Given the description of an element on the screen output the (x, y) to click on. 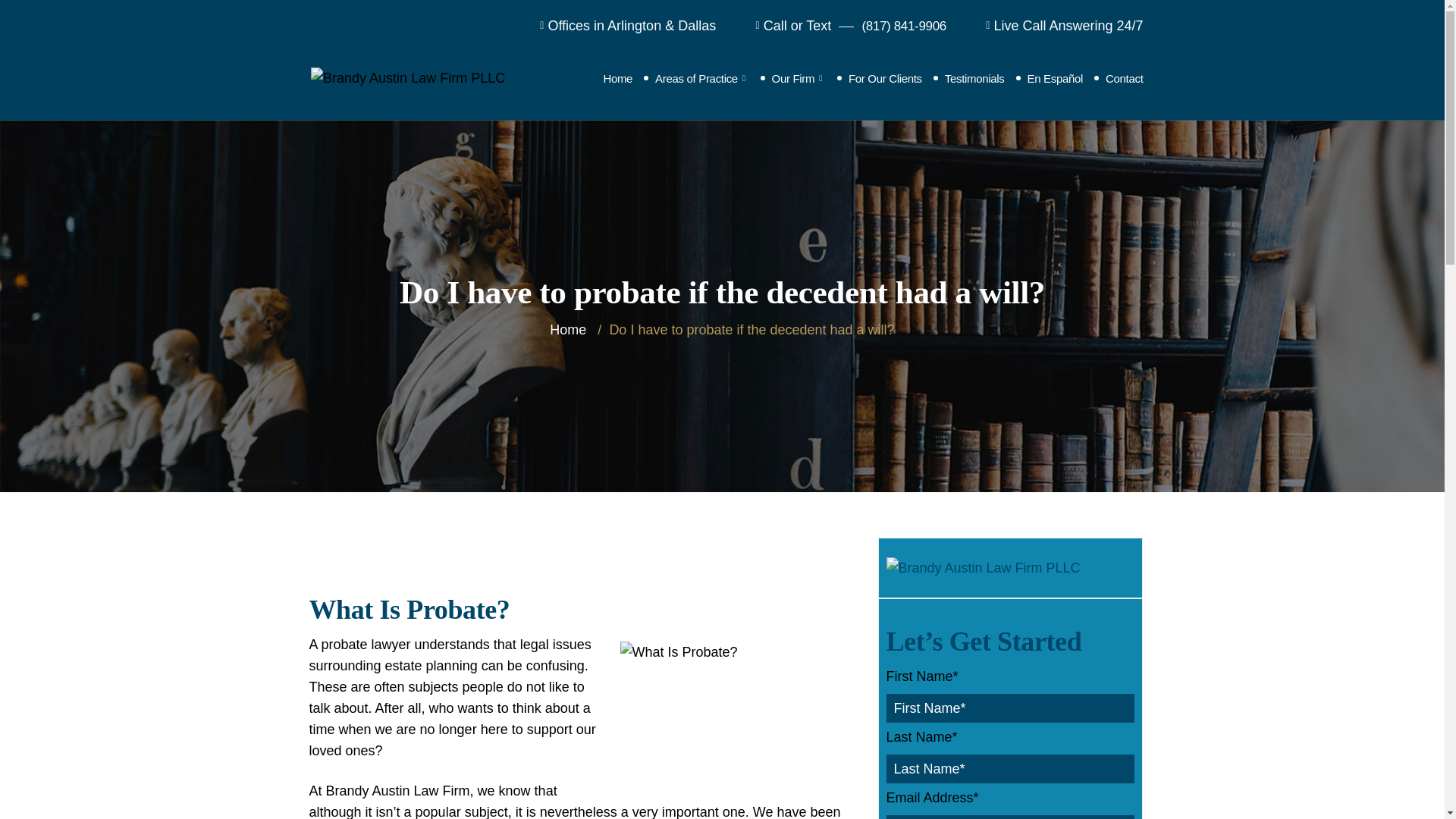
Areas of Practice (701, 77)
